Given the description of an element on the screen output the (x, y) to click on. 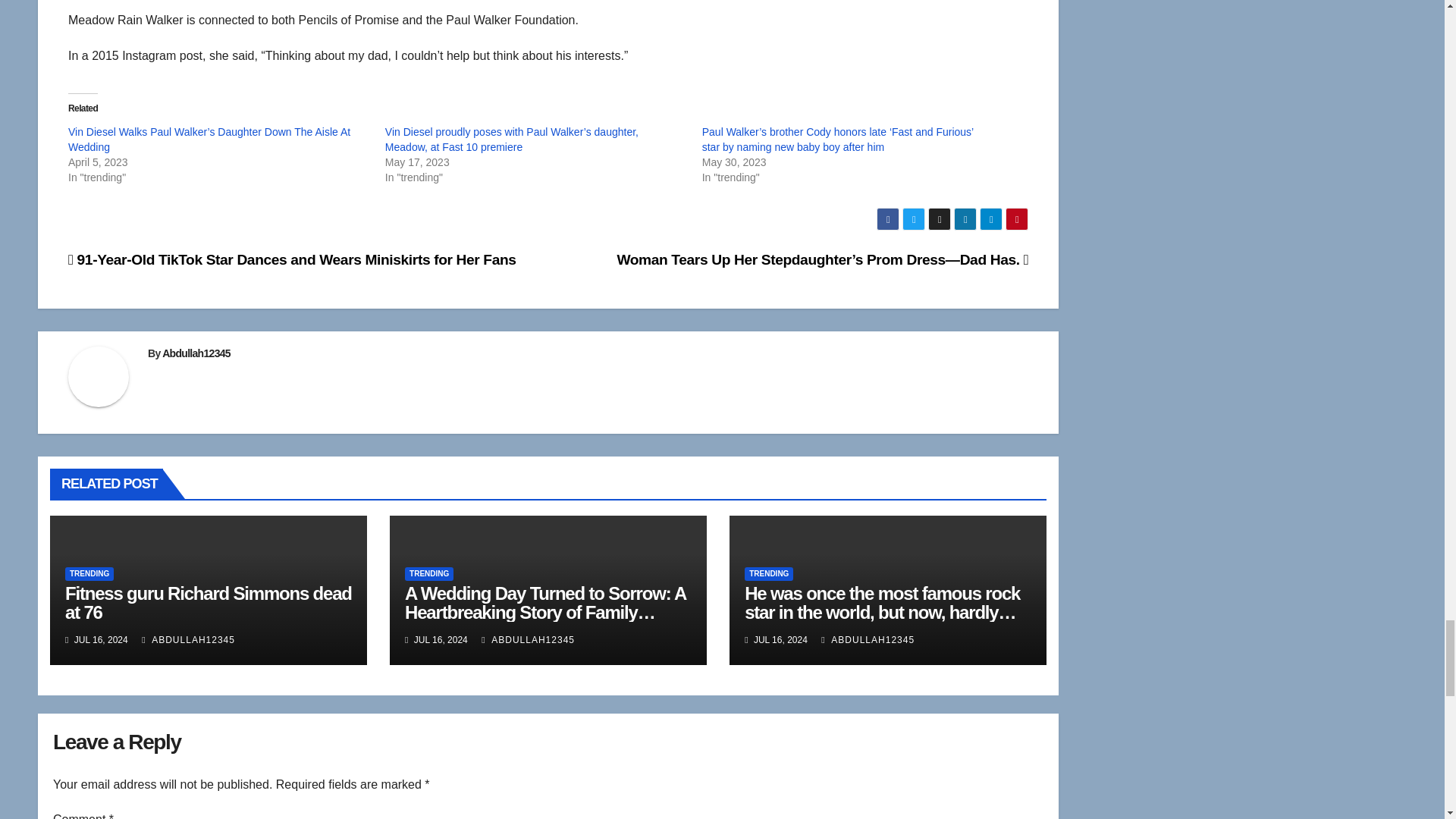
TRENDING (89, 573)
Permalink to: Fitness guru Richard Simmons dead at 76 (208, 602)
Fitness guru Richard Simmons dead at 76 (208, 602)
ABDULLAH12345 (187, 639)
Abdullah12345 (195, 353)
TRENDING (428, 573)
